Given the description of an element on the screen output the (x, y) to click on. 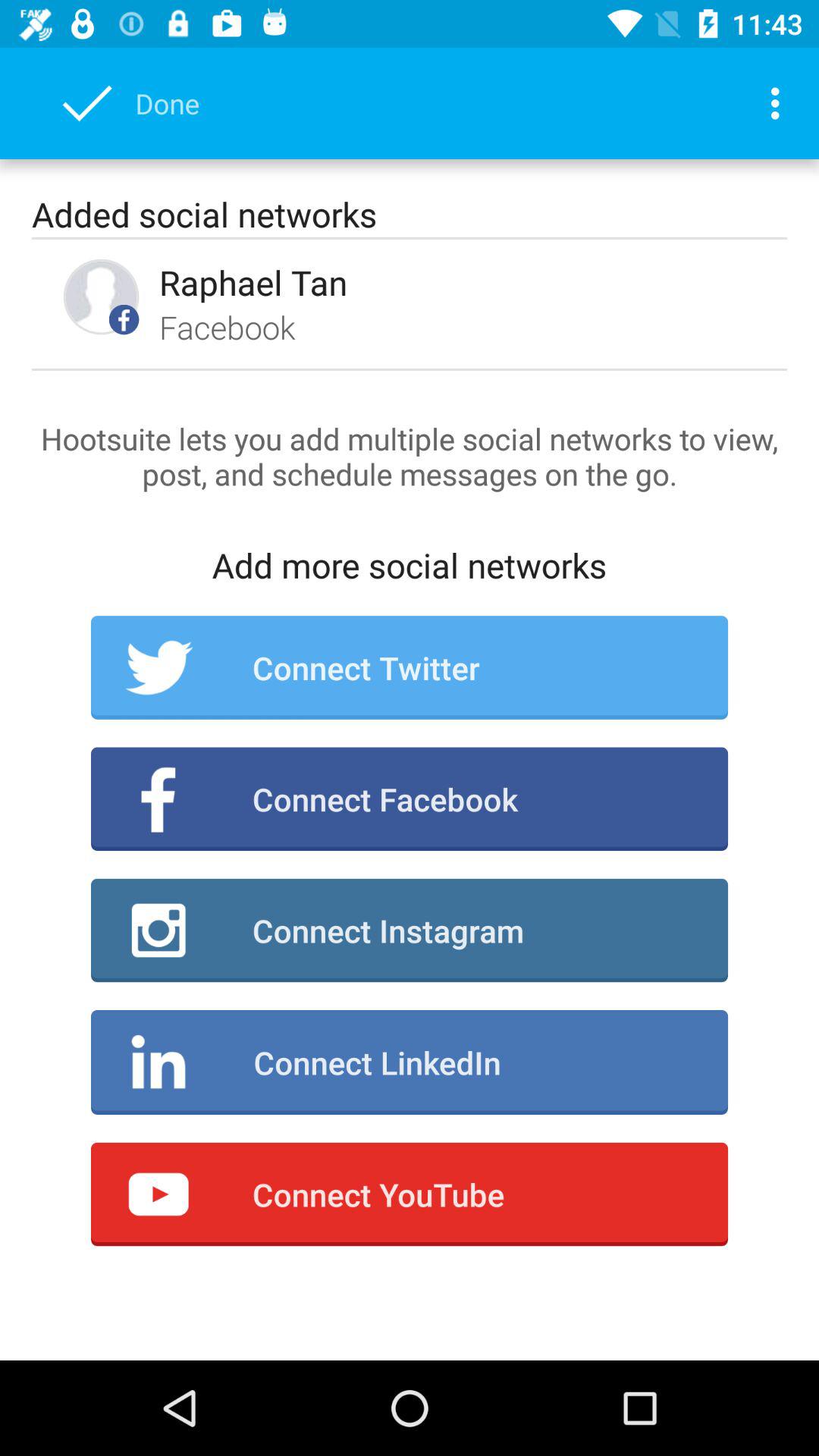
press item at the top right corner (779, 103)
